Given the description of an element on the screen output the (x, y) to click on. 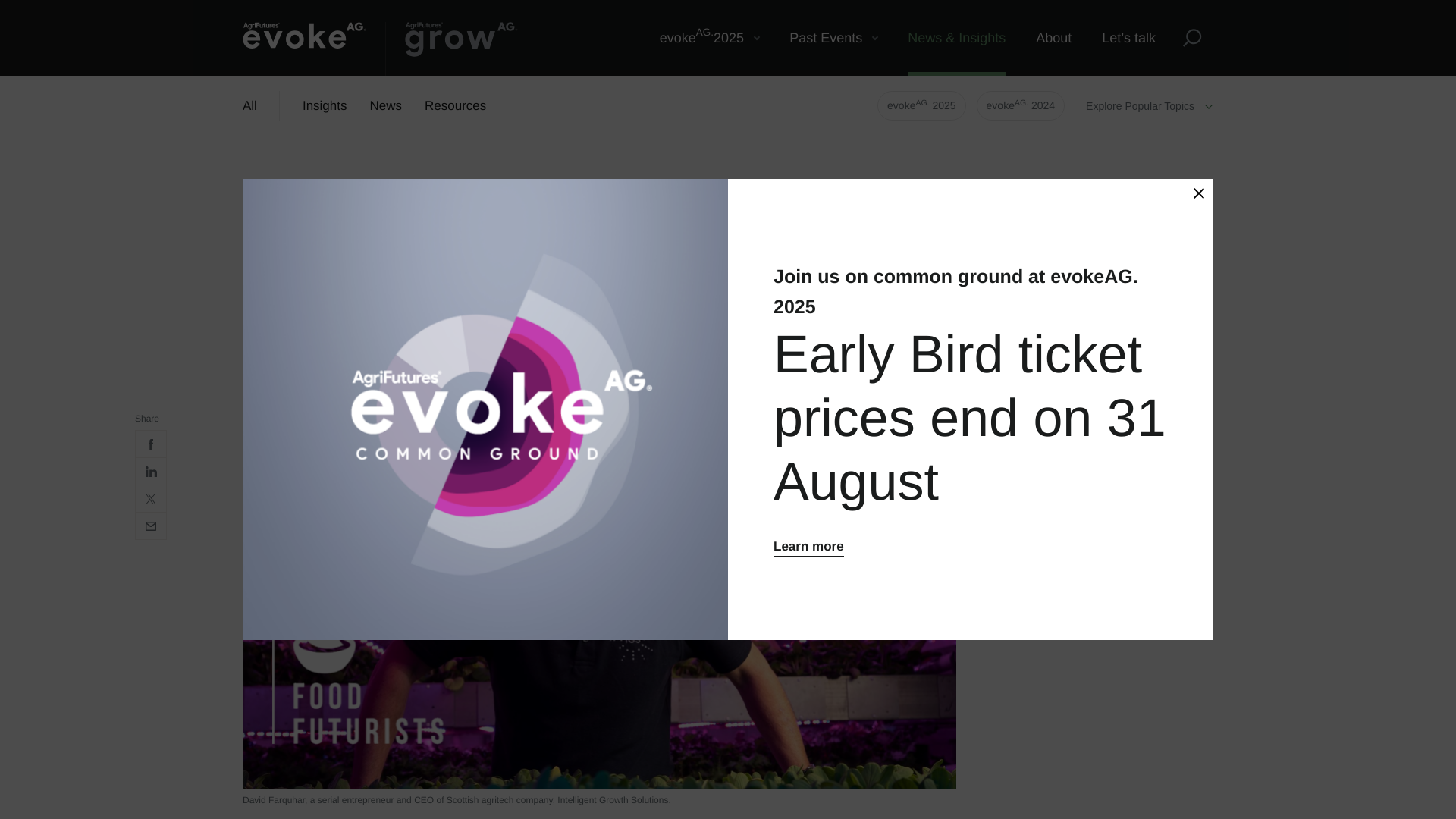
close popup (709, 38)
News (1198, 193)
Visit growag.com (386, 105)
evokeAG. 2024 (451, 49)
Past Events (1020, 104)
evokeAG. 2025 (833, 38)
Insights (921, 104)
Close popup (324, 105)
Explore Popular Topics (1198, 193)
